Given the description of an element on the screen output the (x, y) to click on. 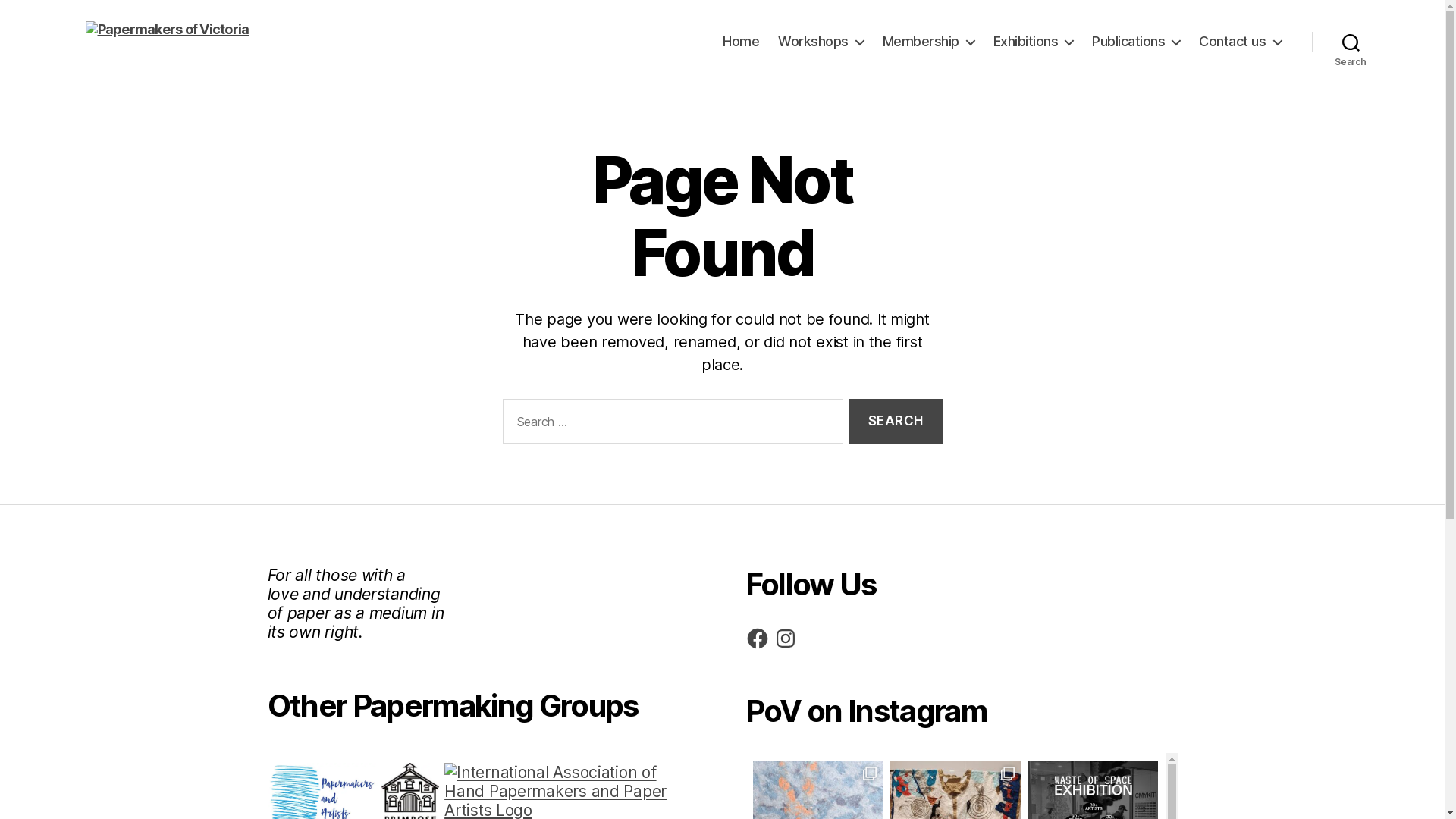
Publications Element type: text (1135, 41)
Home Element type: text (740, 41)
Instagram Element type: text (785, 638)
Search Element type: text (895, 420)
Contact us Element type: text (1239, 41)
Exhibitions Element type: text (1033, 41)
Membership Element type: text (928, 41)
Search Element type: text (1350, 41)
Workshops Element type: text (820, 41)
Facebook Element type: text (756, 638)
